Given the description of an element on the screen output the (x, y) to click on. 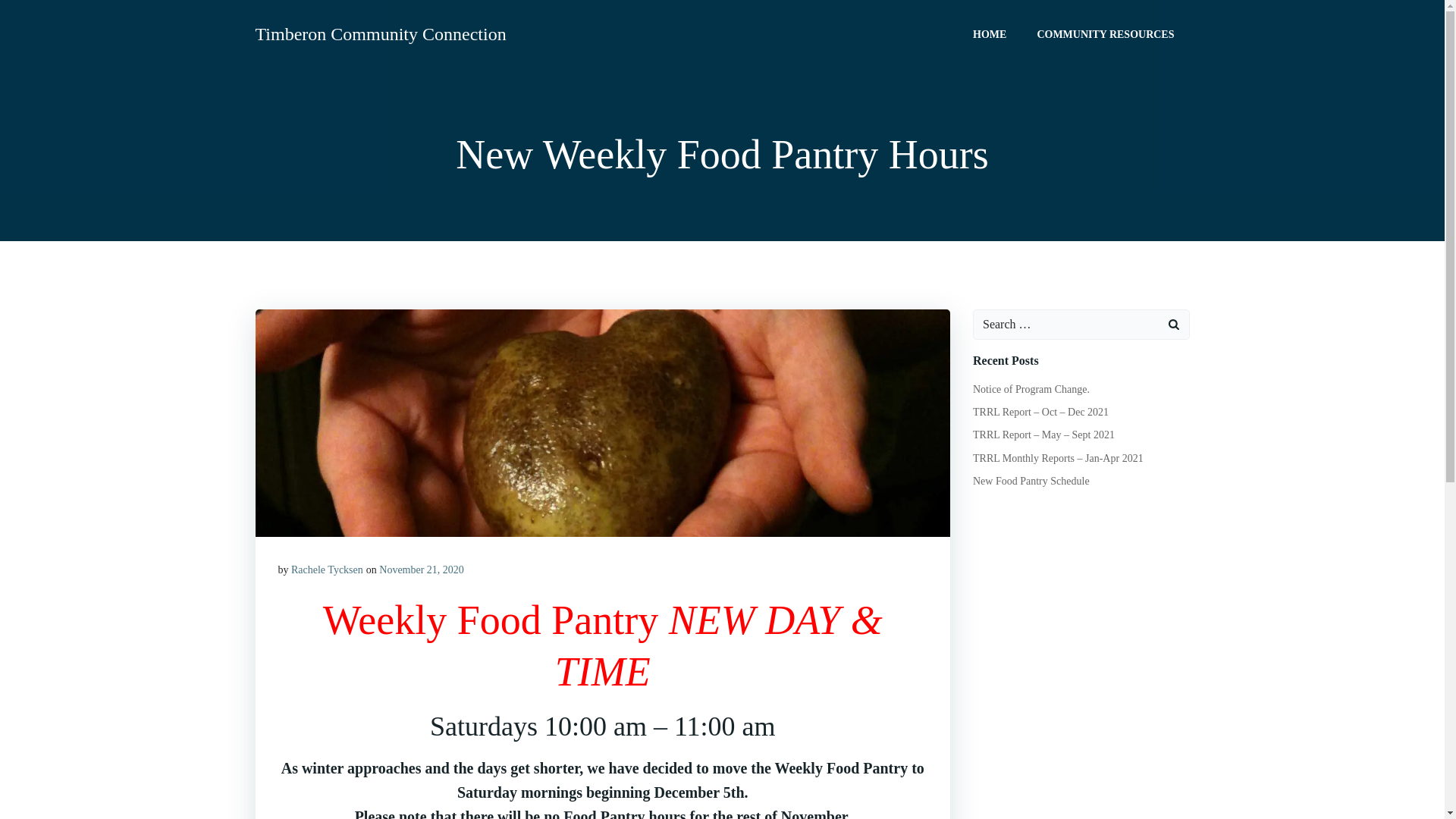
Notice of Program Change. (1030, 389)
Search  (29, 14)
COMMUNITY RESOURCES (1104, 33)
November 21, 2020 (421, 569)
Timberon Community Connection (379, 33)
Rachele Tycksen (326, 569)
HOME (989, 33)
New Food Pantry Schedule (1030, 480)
